Given the description of an element on the screen output the (x, y) to click on. 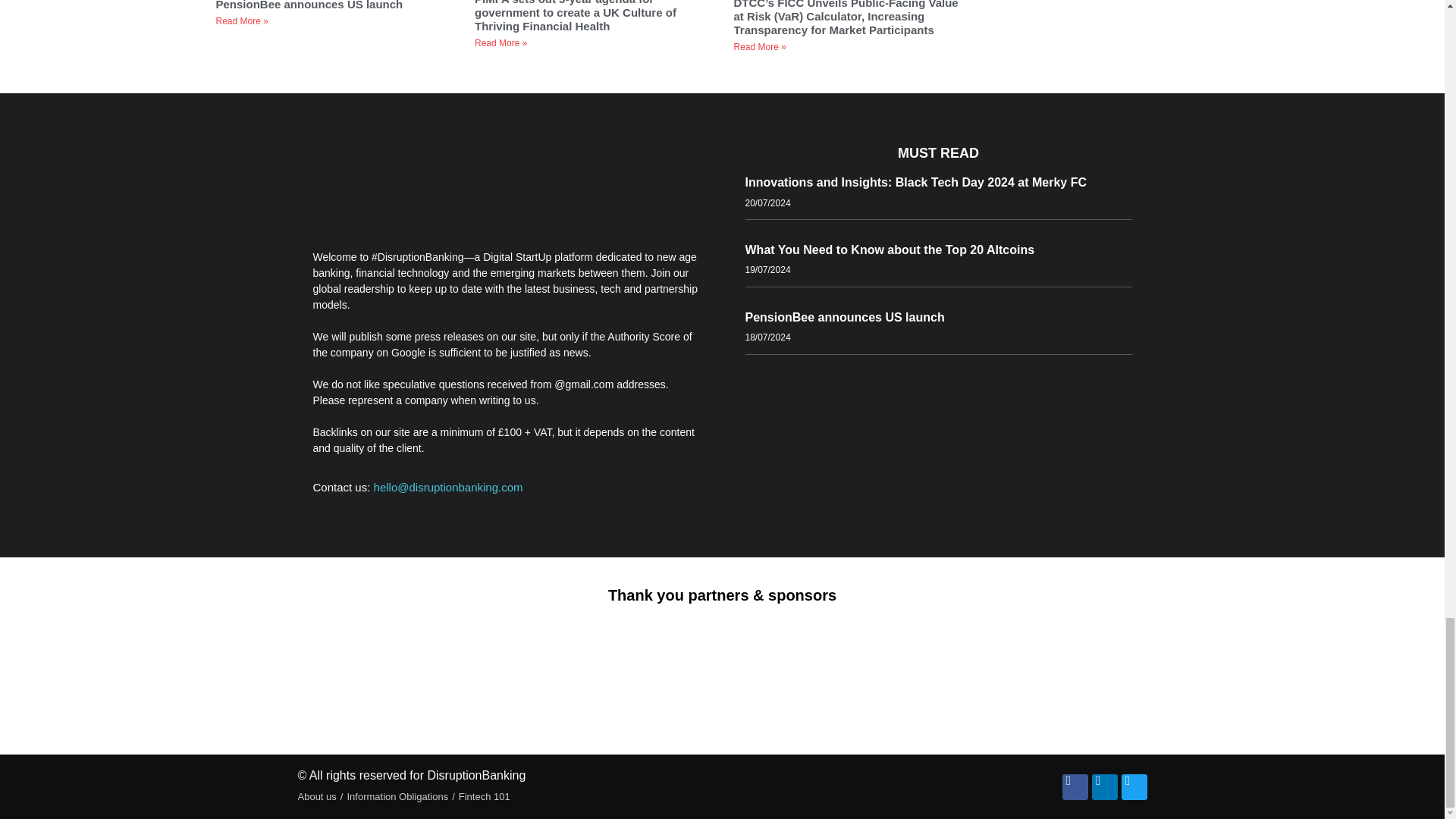
PensionBee announces US launch  (310, 5)
